Given the description of an element on the screen output the (x, y) to click on. 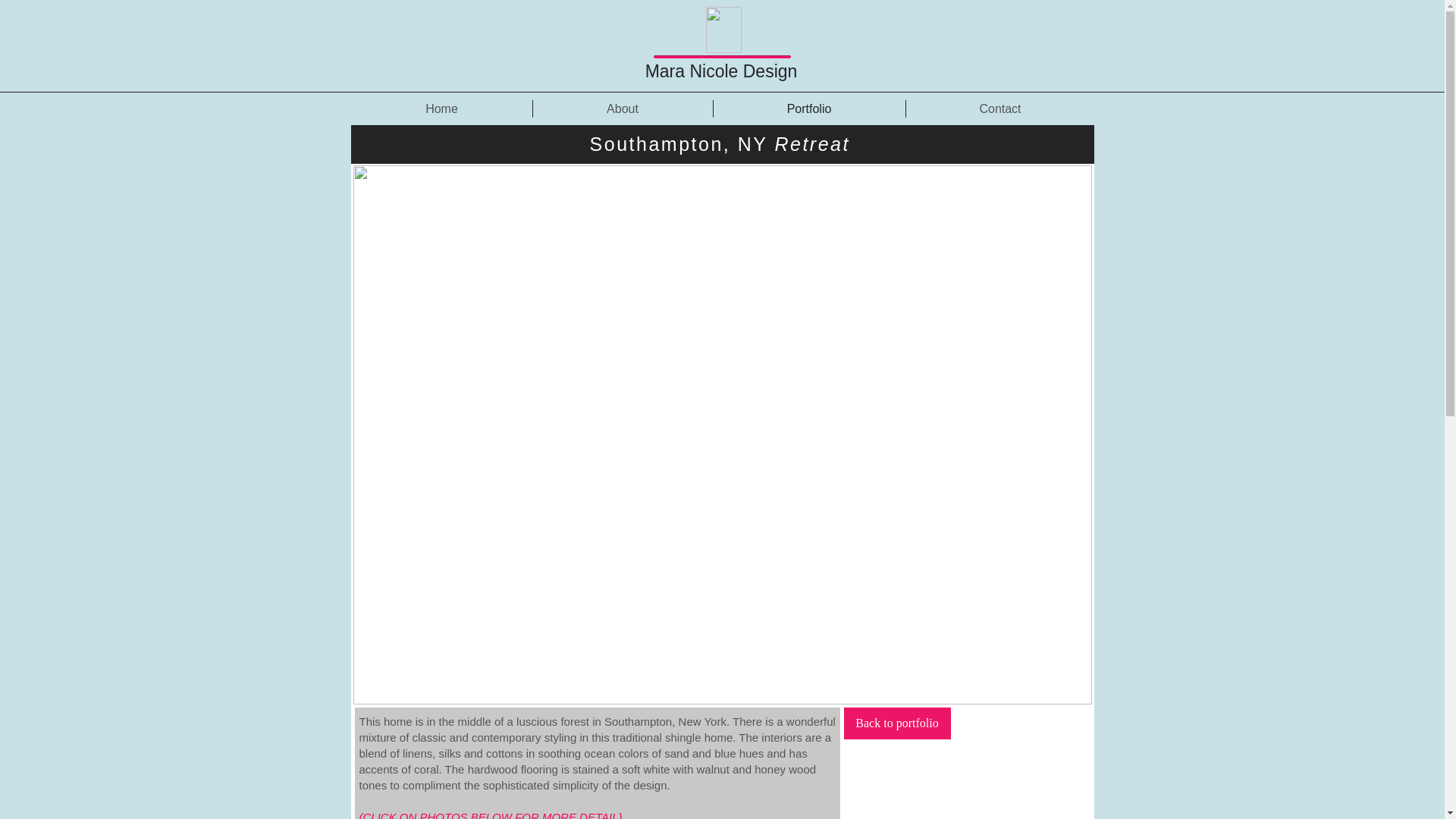
Back to portfolio (896, 723)
Portfolio (808, 108)
About (621, 108)
Home (442, 108)
Contact (999, 108)
